Given the description of an element on the screen output the (x, y) to click on. 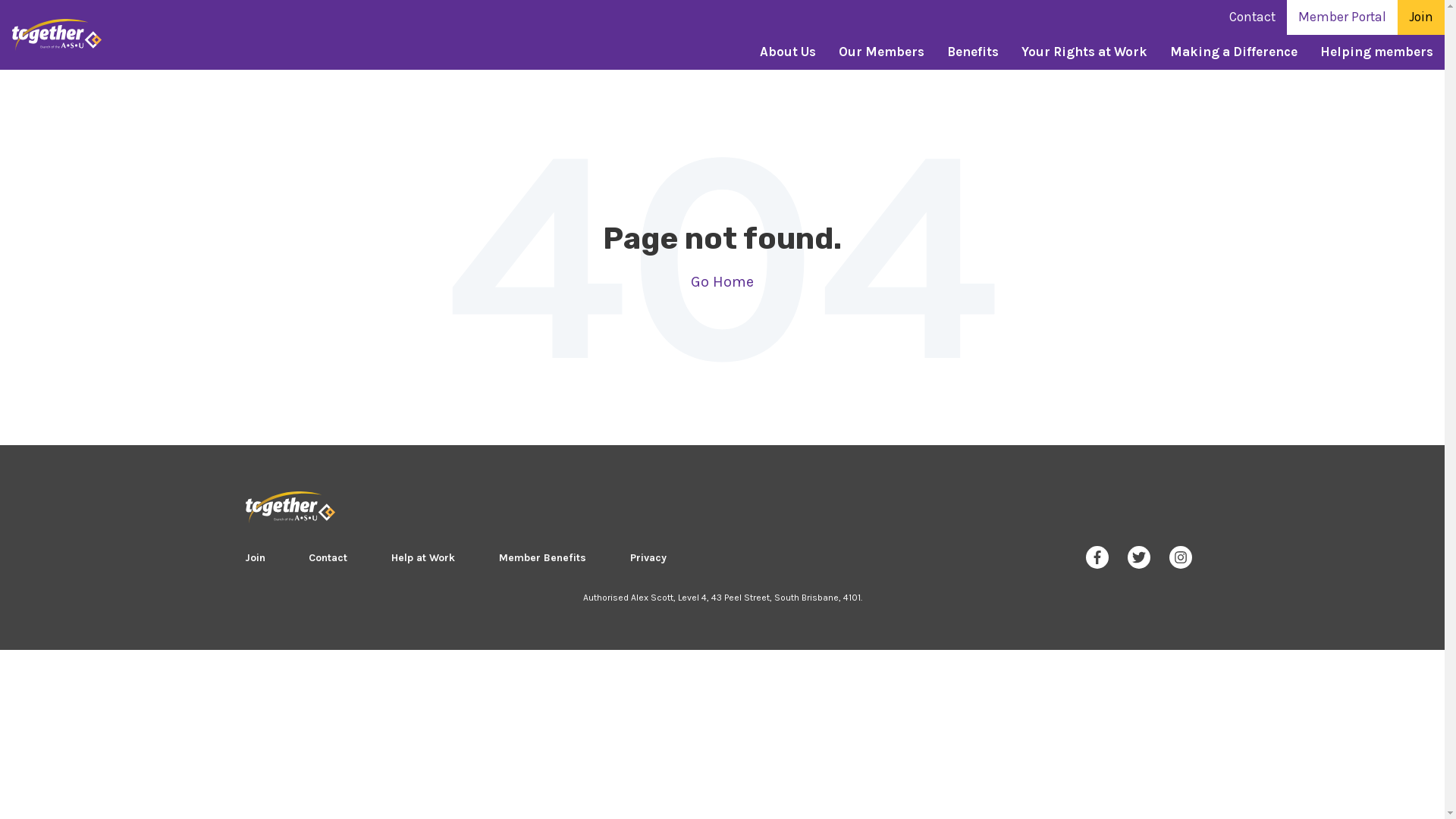
Join Element type: text (1420, 17)
Help at Work Element type: text (423, 557)
Member Benefits Element type: text (542, 557)
Our Members Element type: text (881, 51)
Contact Element type: text (327, 557)
Together branch of the ASU  Element type: hover (56, 34)
Contact Element type: text (1251, 17)
Go Home Element type: text (721, 281)
Join Element type: text (254, 557)
Privacy Element type: text (648, 557)
About Us Element type: text (787, 51)
Member Portal Element type: text (1341, 17)
Making a Difference Element type: text (1233, 51)
Together branch of the ASU  Element type: hover (289, 507)
Your Rights at Work Element type: text (1084, 51)
Helping members Element type: text (1376, 51)
Benefits Element type: text (972, 51)
